Given the description of an element on the screen output the (x, y) to click on. 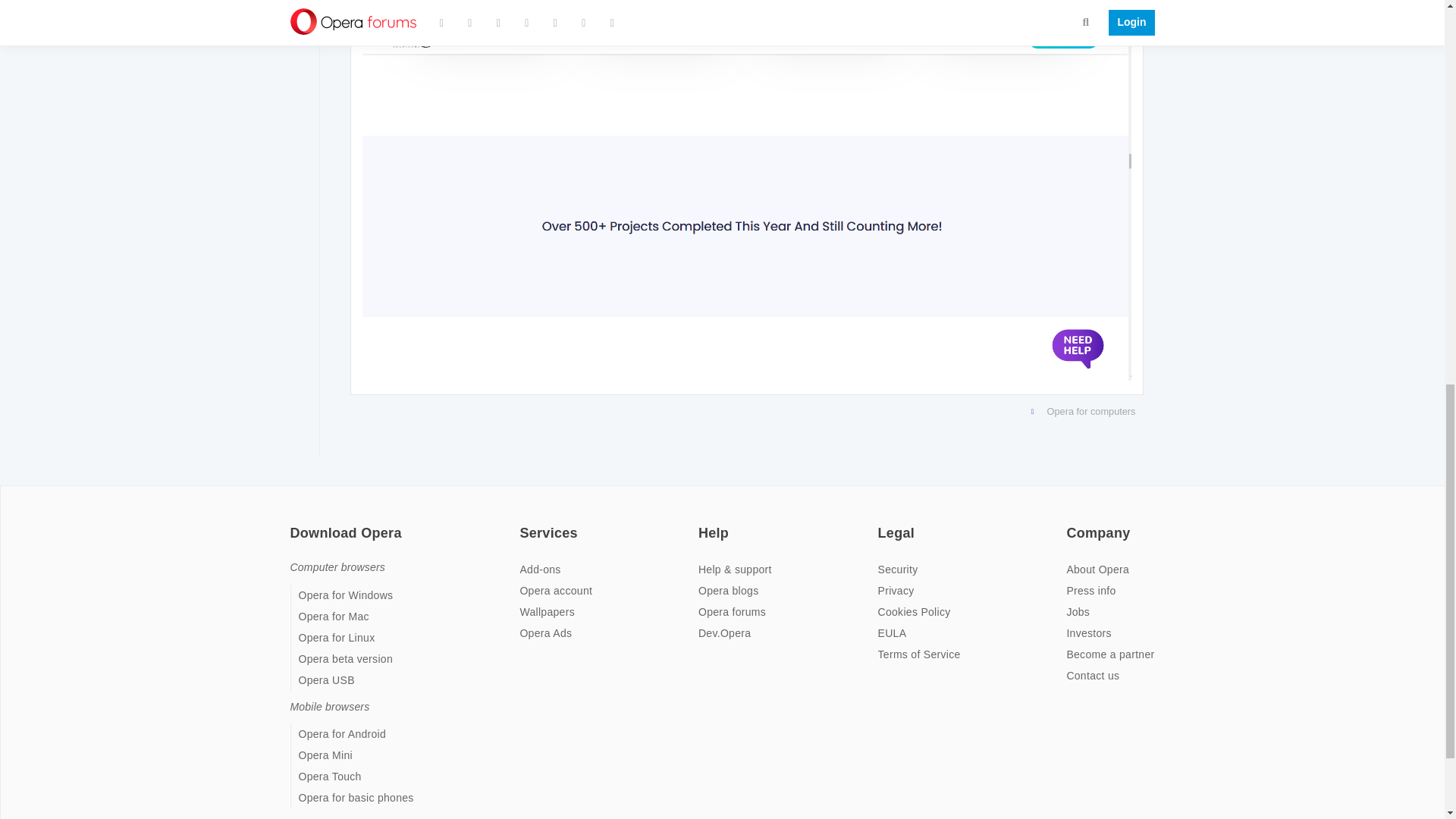
on (881, 522)
on (1070, 522)
on (293, 522)
on (523, 522)
on (702, 522)
